Given the description of an element on the screen output the (x, y) to click on. 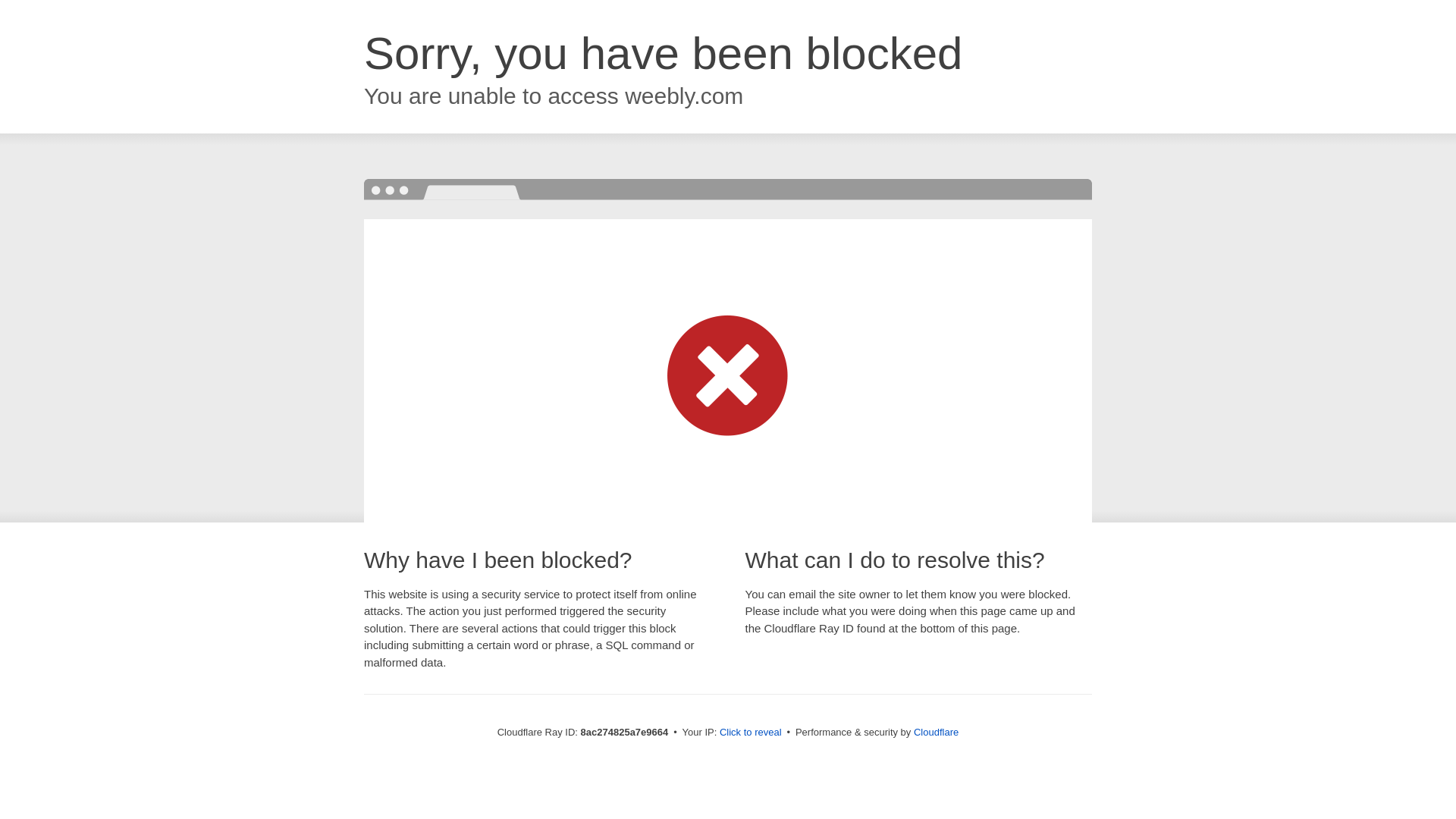
Click to reveal (750, 732)
Cloudflare (936, 731)
